Given the description of an element on the screen output the (x, y) to click on. 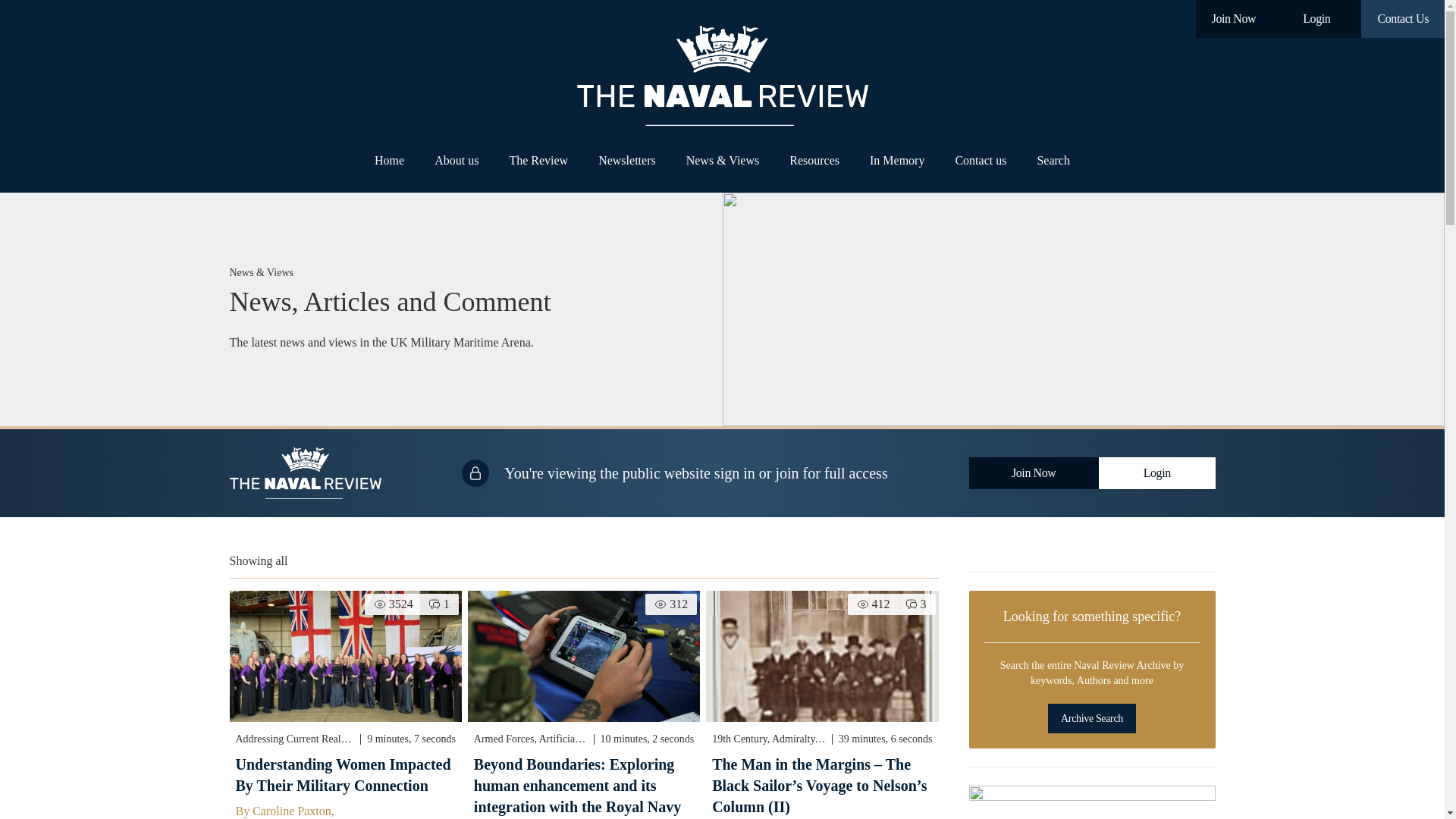
Newsletters (627, 160)
The Review (537, 160)
Login (1316, 18)
Contact us (979, 160)
Resources (814, 160)
Home (389, 160)
In Memory (896, 160)
Join Now (1233, 18)
About us (456, 160)
Search (1053, 160)
